Given the description of an element on the screen output the (x, y) to click on. 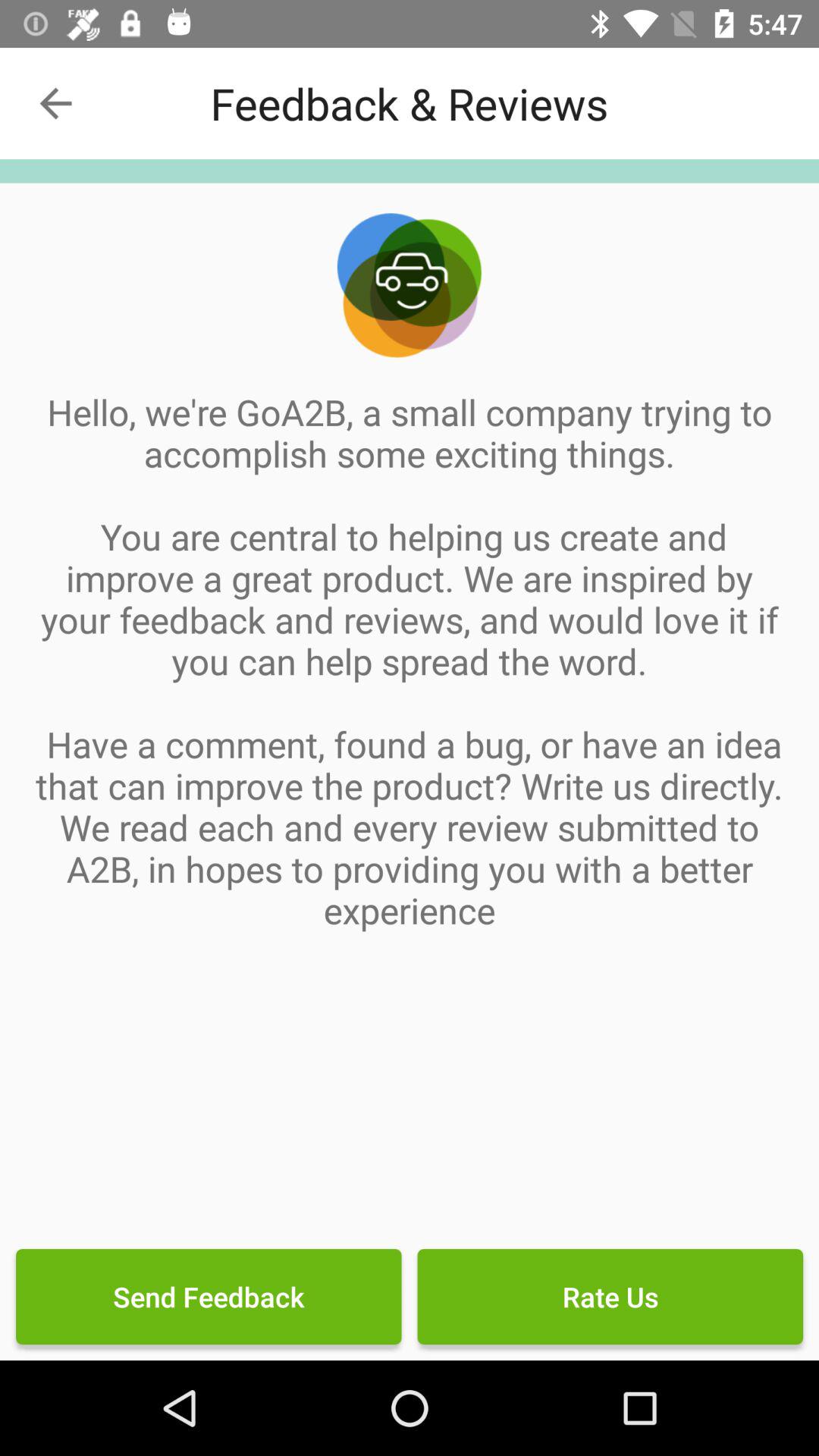
press the send feedback item (208, 1296)
